Given the description of an element on the screen output the (x, y) to click on. 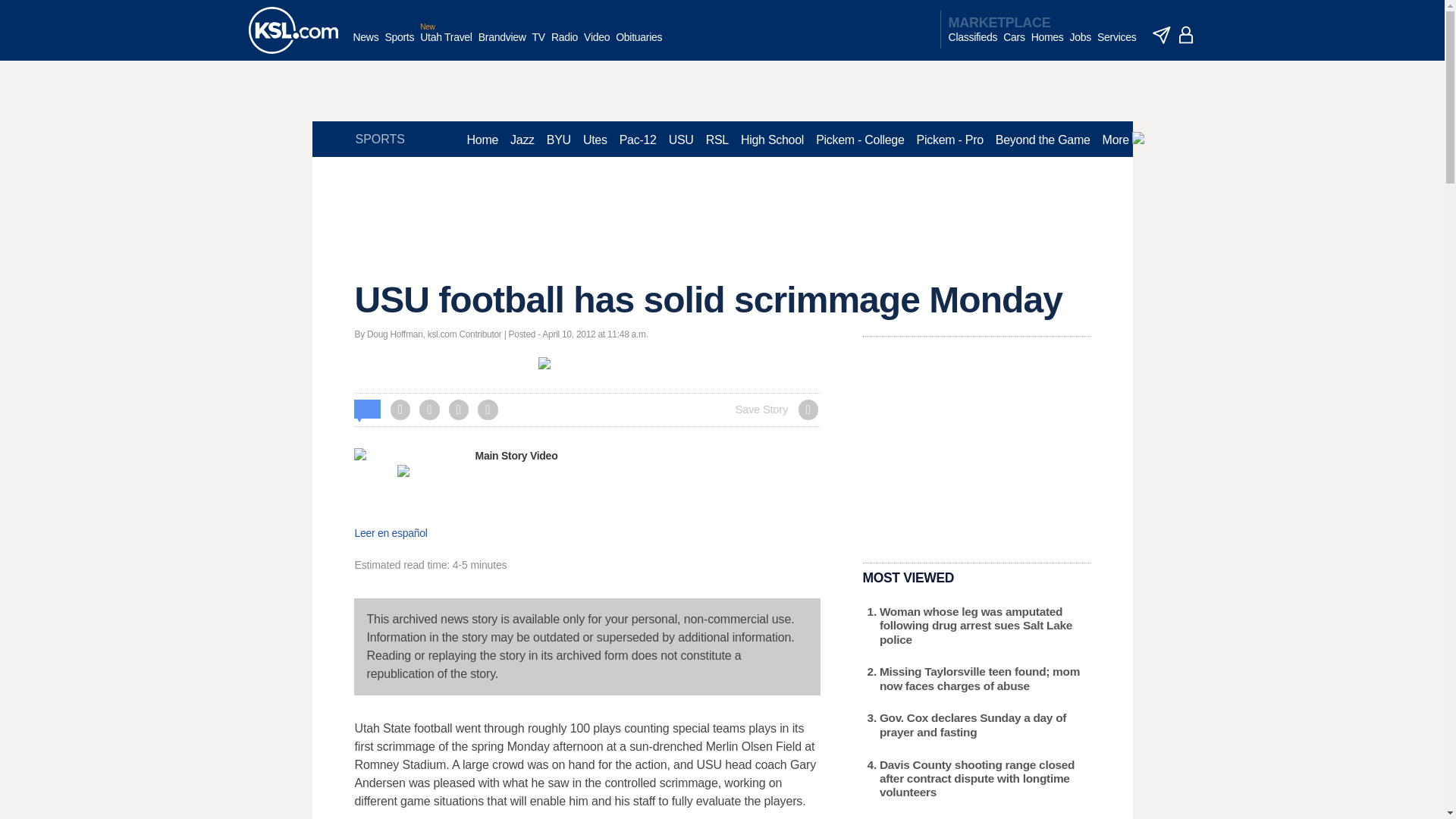
KSL homepage (292, 29)
Brandview (502, 45)
Utah Travel (445, 45)
Sports (398, 45)
account - logged out (1185, 34)
KSL homepage (292, 30)
